Given the description of an element on the screen output the (x, y) to click on. 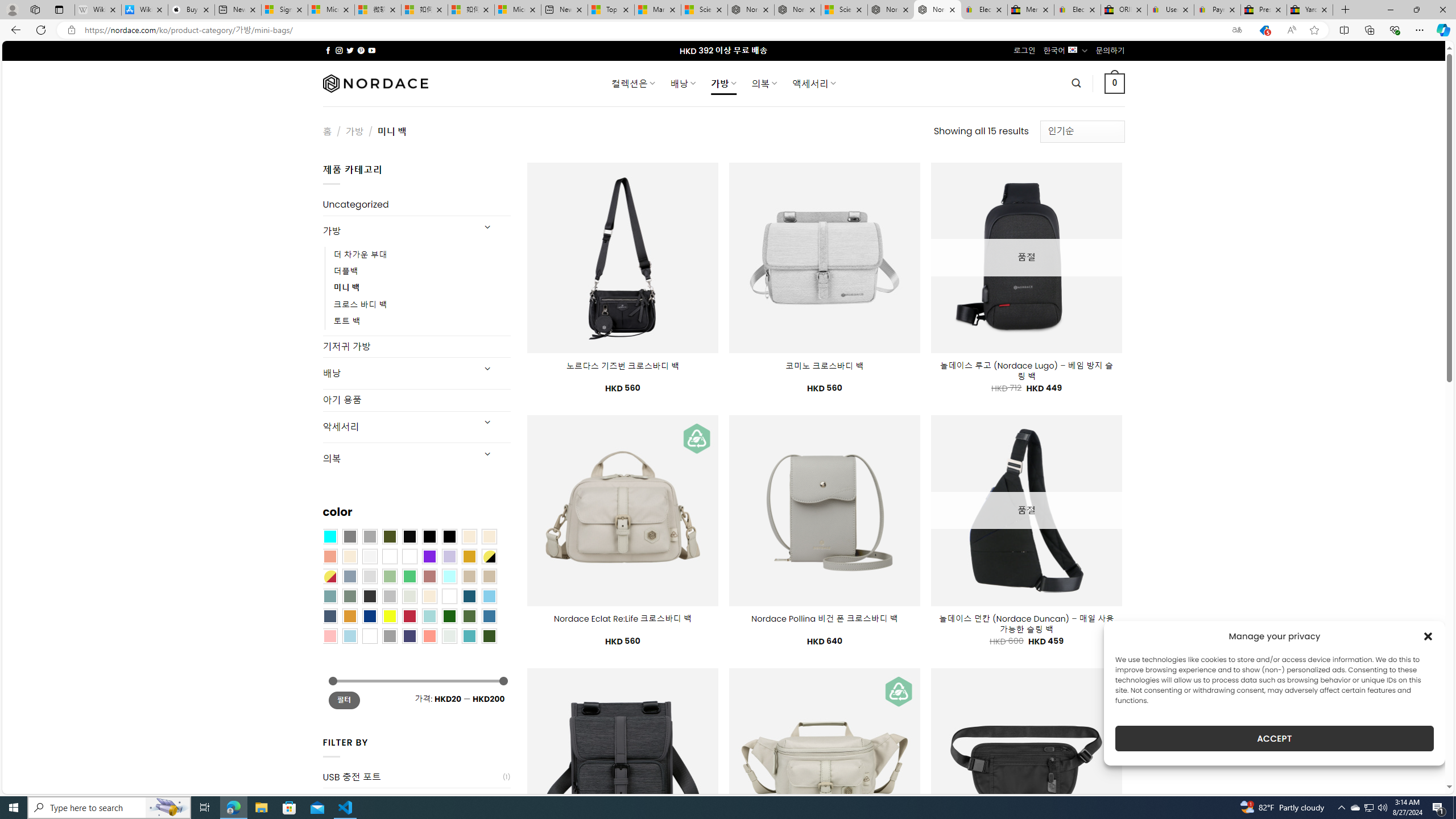
Microsoft Services Agreement (330, 9)
Follow on Twitter (349, 50)
